Given the description of an element on the screen output the (x, y) to click on. 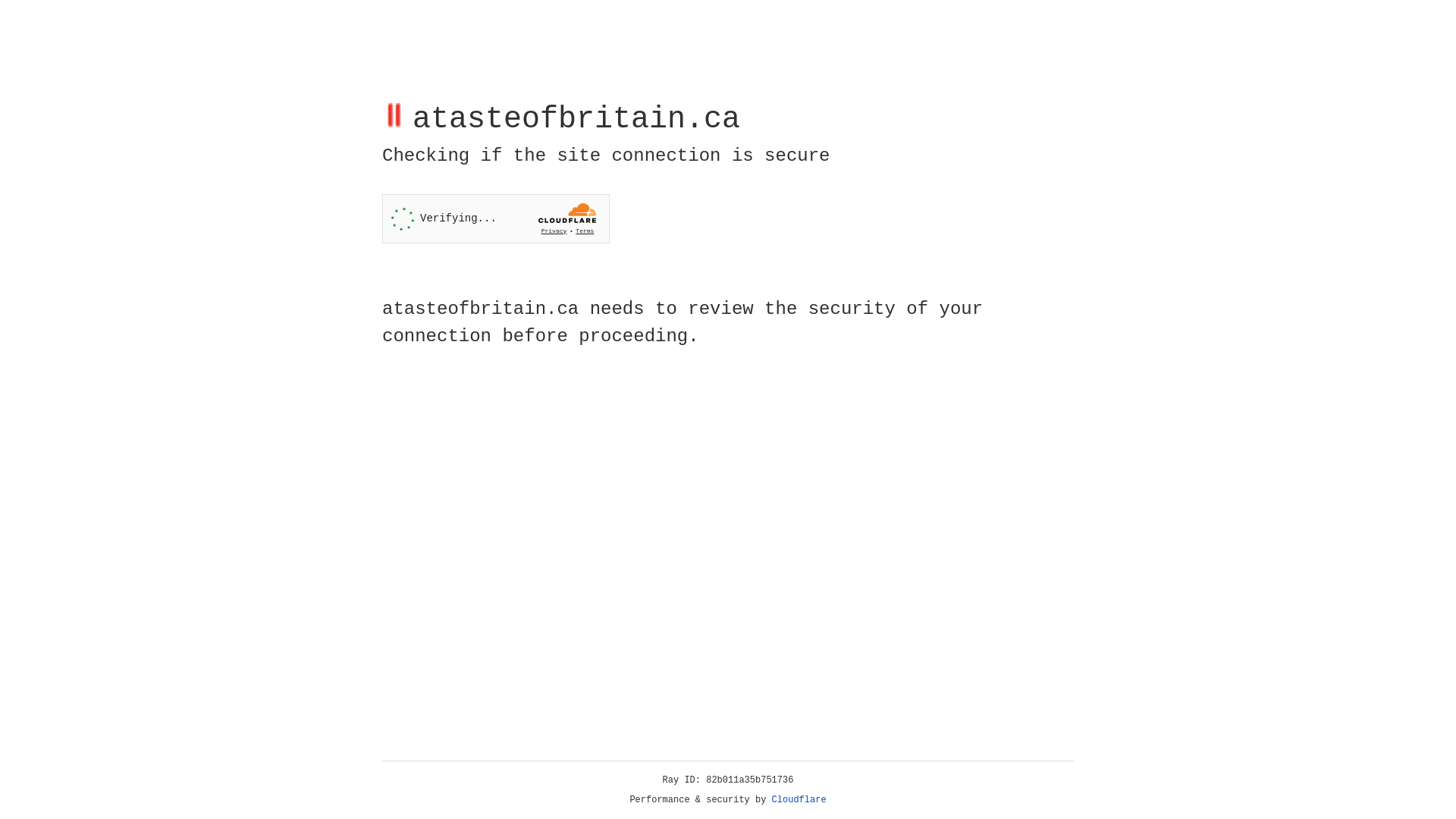
Cloudflare Element type: text (798, 799)
Widget containing a Cloudflare security challenge Element type: hover (495, 218)
